Given the description of an element on the screen output the (x, y) to click on. 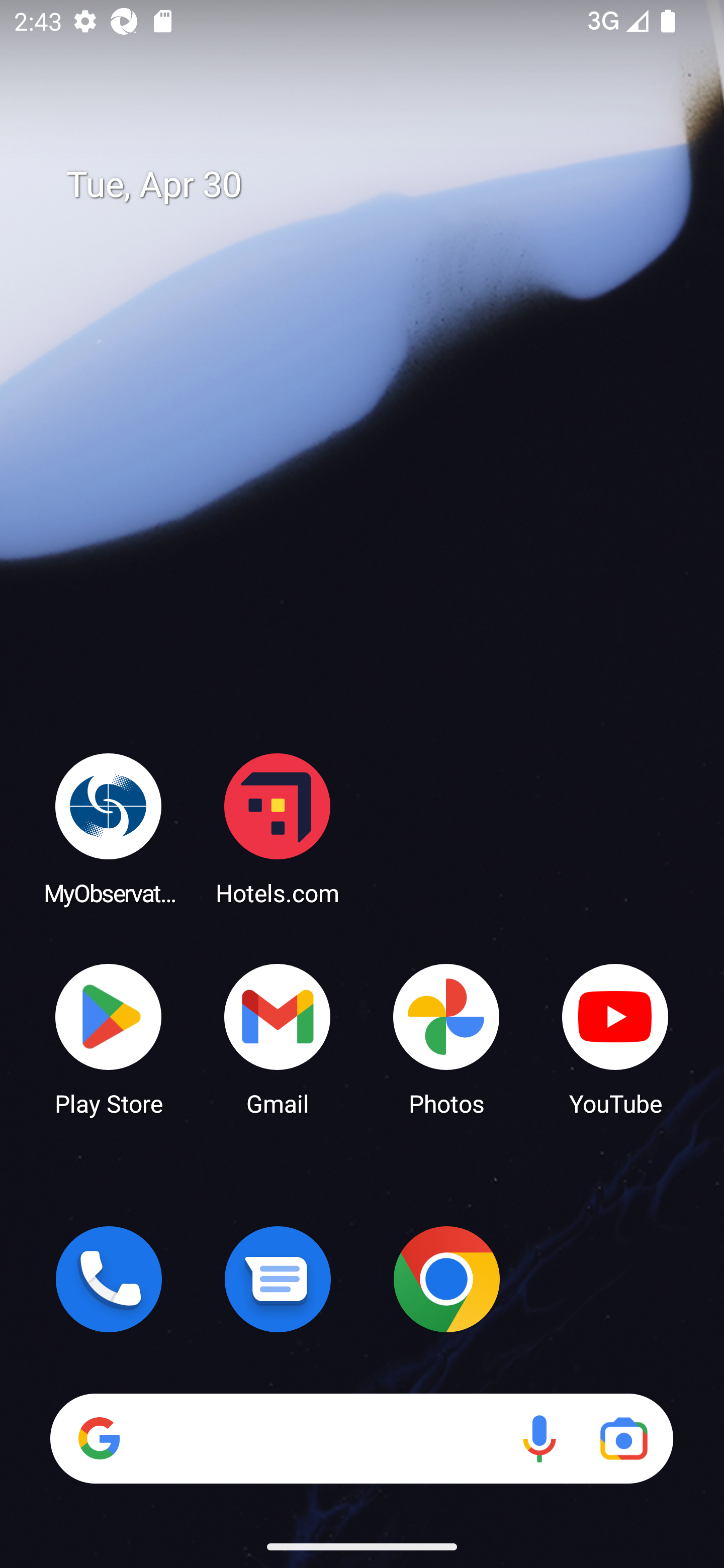
Tue, Apr 30 (375, 184)
MyObservatory (108, 828)
Hotels.com (277, 828)
Play Store (108, 1038)
Gmail (277, 1038)
Photos (445, 1038)
YouTube (615, 1038)
Phone (108, 1279)
Messages (277, 1279)
Chrome (446, 1279)
Search Voice search Google Lens (361, 1438)
Voice search (539, 1438)
Google Lens (623, 1438)
